Given the description of an element on the screen output the (x, y) to click on. 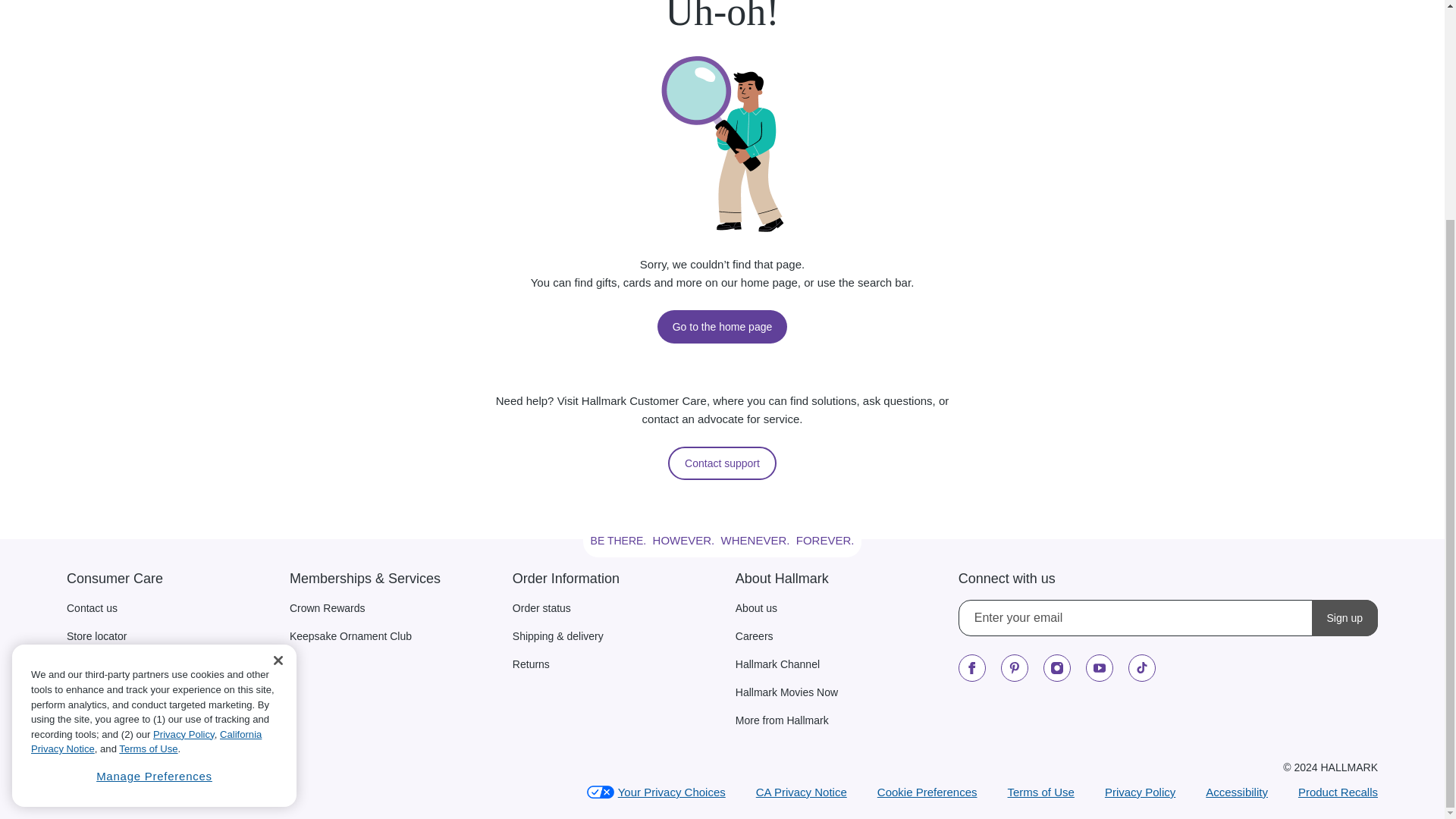
Follow us on TikTok (1142, 667)
Follow us on Youtube (1099, 667)
Follow us on Pinterest (1014, 667)
Follow us on Instagram (1056, 667)
Follow us on Facebook (971, 667)
